Given the description of an element on the screen output the (x, y) to click on. 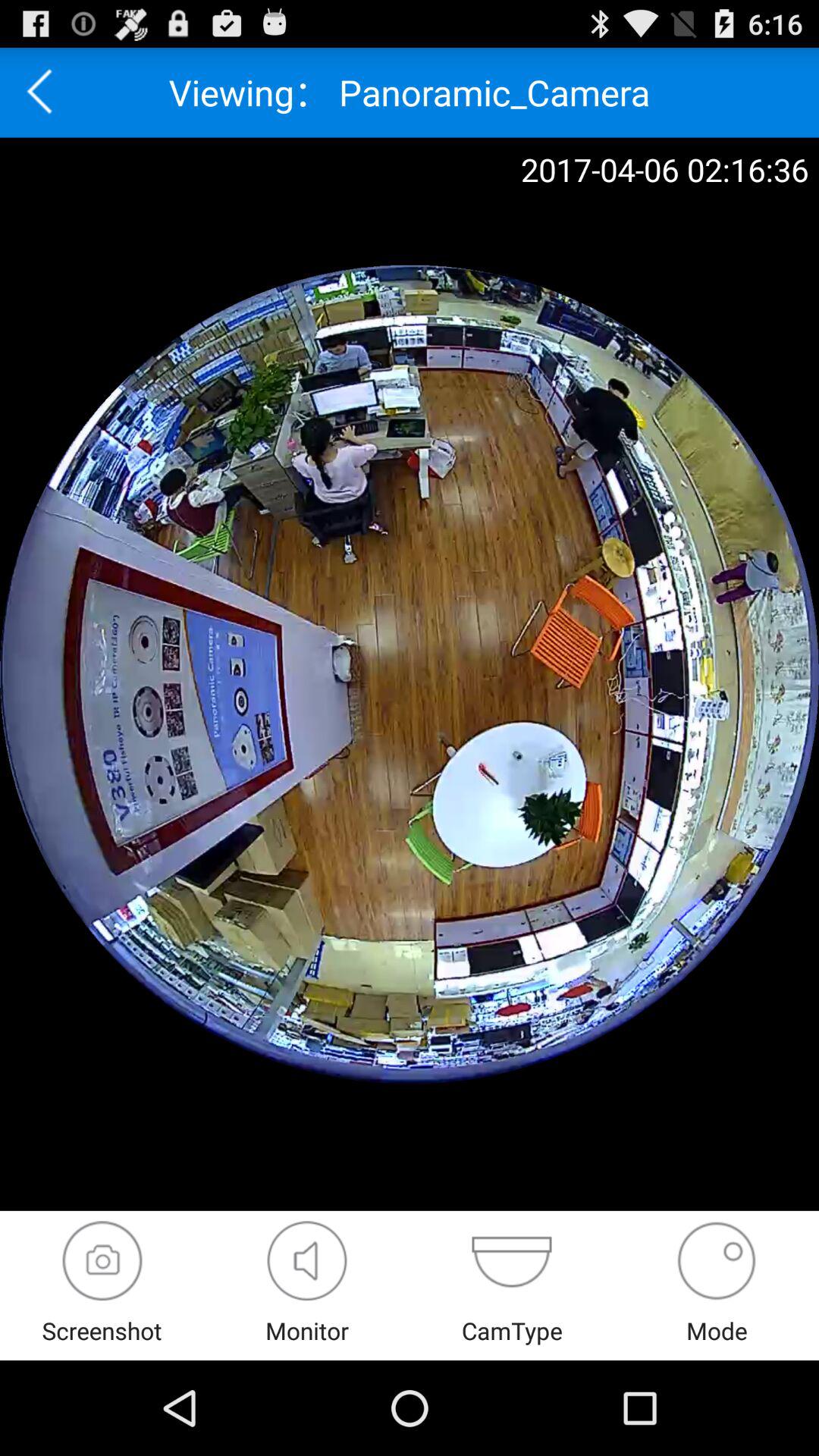
play camera audio (306, 1260)
